Given the description of an element on the screen output the (x, y) to click on. 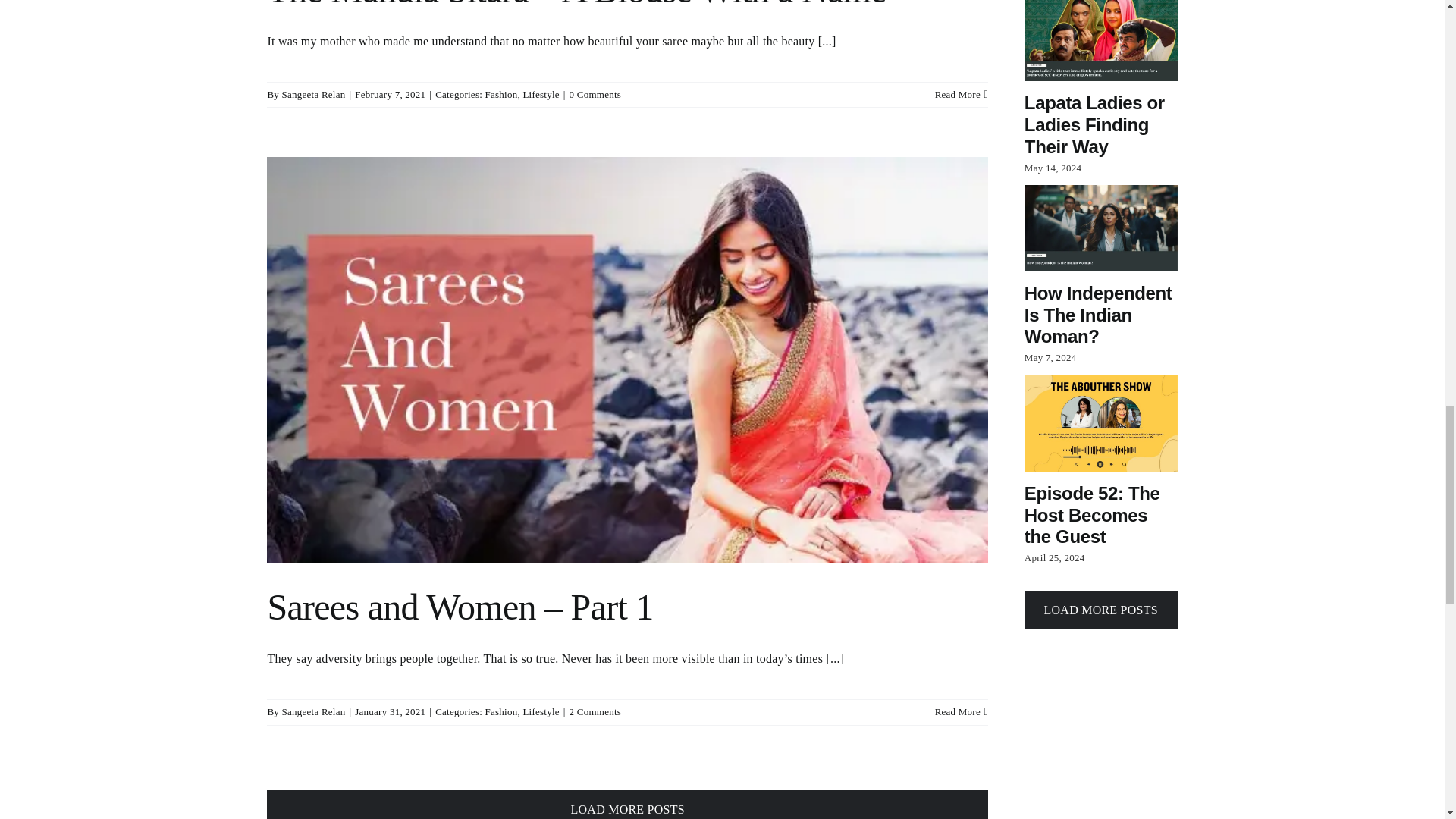
Posts by Sangeeta Relan (314, 711)
Posts by Sangeeta Relan (314, 93)
